Given the description of an element on the screen output the (x, y) to click on. 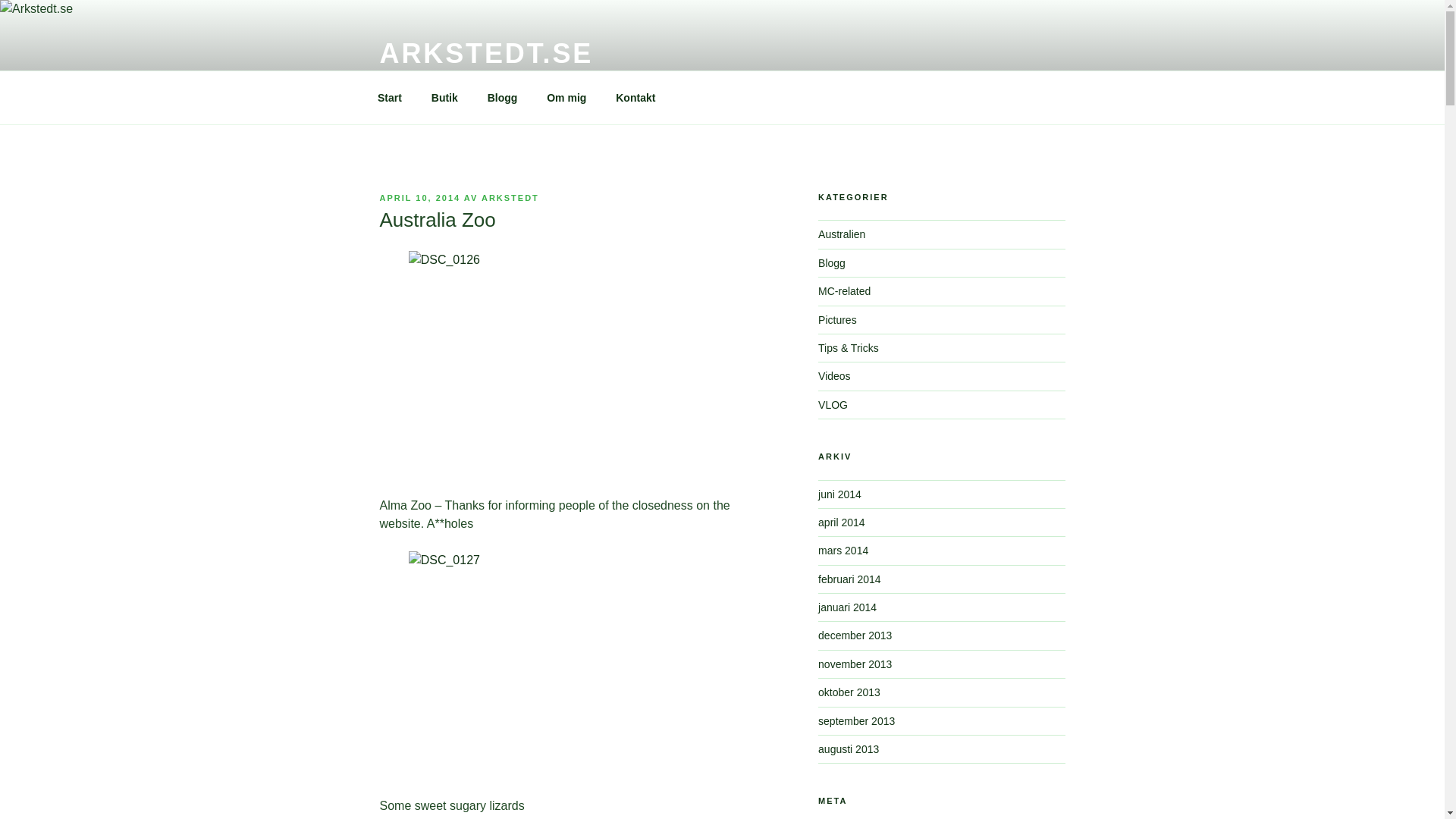
ARKSTEDT (509, 197)
Pictures (837, 319)
Butik (443, 97)
Blogg (502, 97)
Start (389, 97)
ARKSTEDT.SE (485, 52)
MC-related (844, 291)
Blogg (831, 263)
Om mig (566, 97)
Kontakt (635, 97)
Posts containing breathtaking pictures from my adventure (837, 319)
APRIL 10, 2014 (419, 197)
Australien (841, 234)
